Given the description of an element on the screen output the (x, y) to click on. 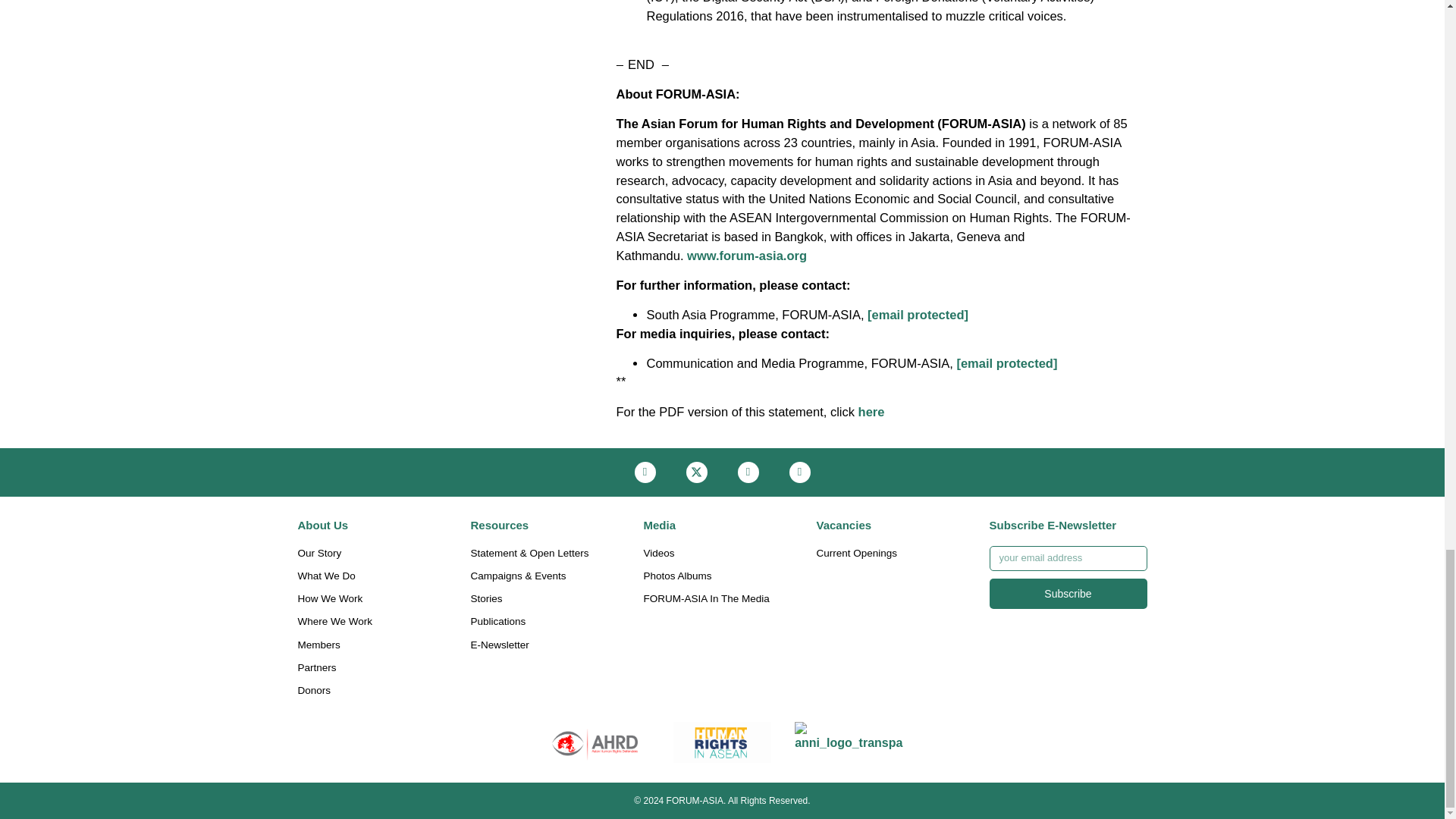
Default Title (722, 741)
Default Title (848, 741)
Default Title (595, 741)
